Given the description of an element on the screen output the (x, y) to click on. 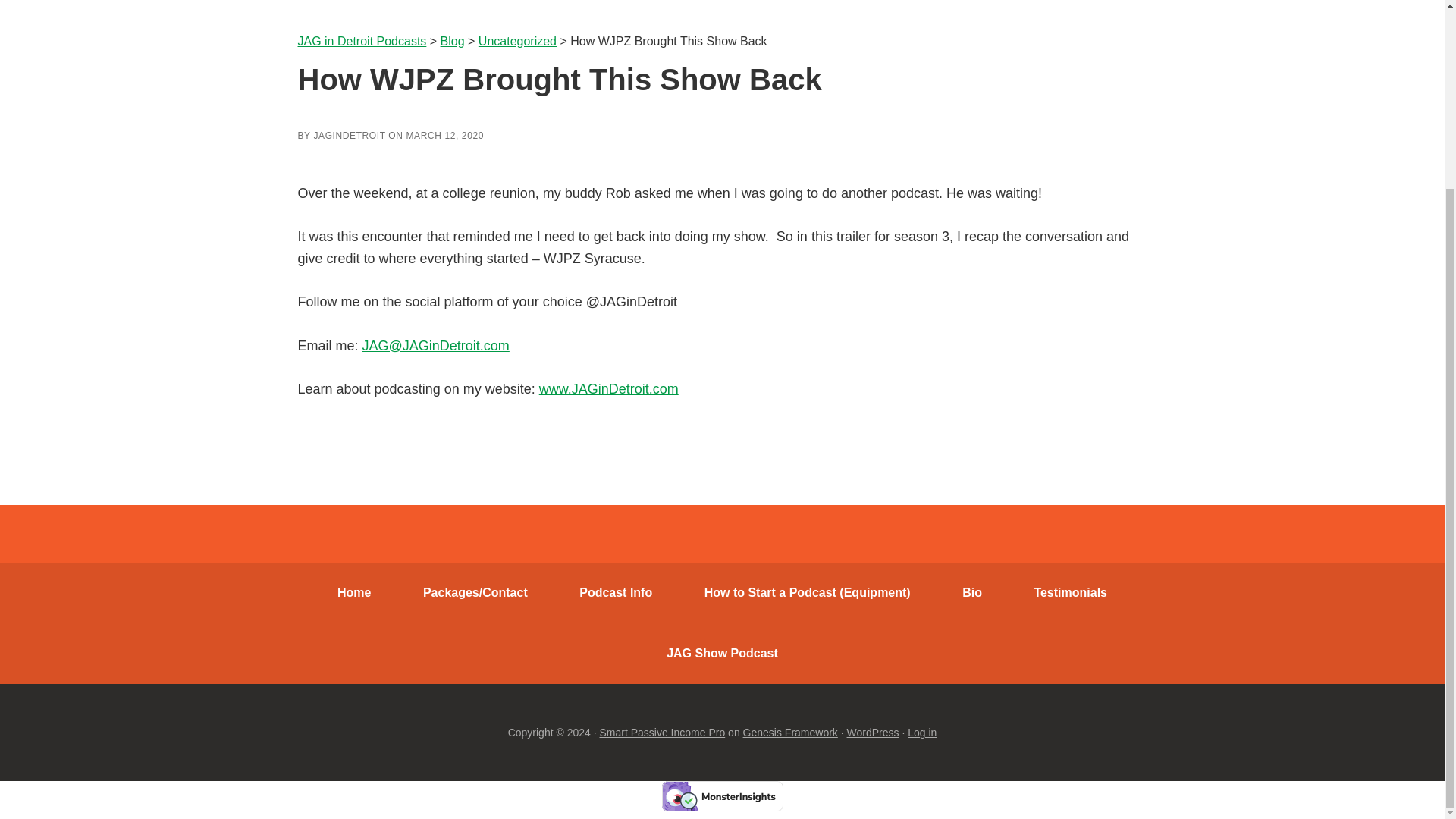
JAG in Detroit Podcasts (361, 41)
JAGINDETROIT (349, 135)
Genesis Framework (790, 732)
WordPress (873, 732)
Log in (921, 732)
Blog (452, 41)
Go to JAG in Detroit Podcasts. (361, 41)
Testimonials (1070, 592)
Bio (971, 592)
Podcast Info (615, 592)
Go to the Uncategorized Category archives. (517, 41)
Go to Blog. (452, 41)
Smart Passive Income Pro (661, 732)
www.JAGinDetroit.com (608, 388)
JAG Show Podcast (722, 653)
